Given the description of an element on the screen output the (x, y) to click on. 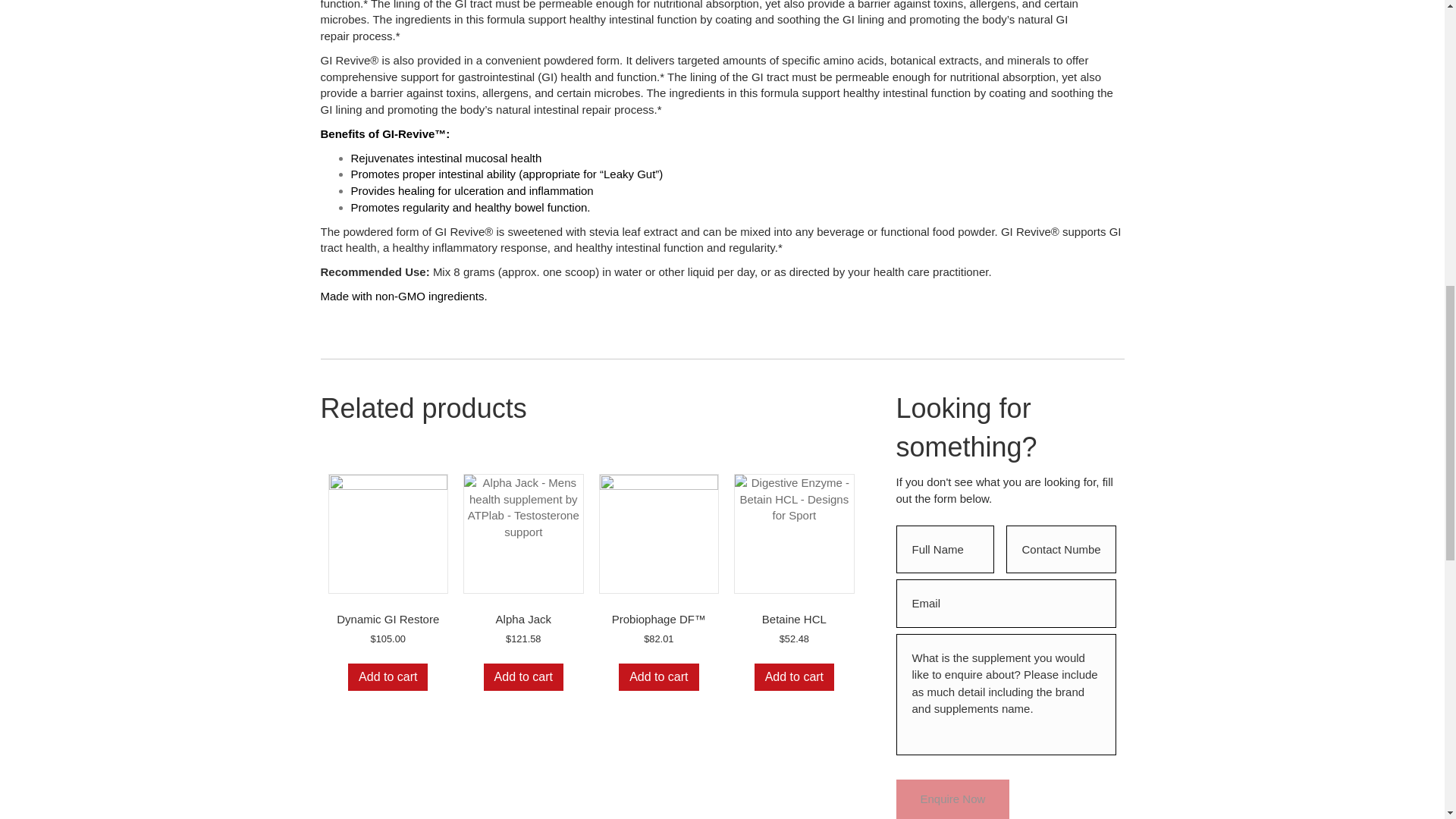
Enquire Now (953, 799)
